Given the description of an element on the screen output the (x, y) to click on. 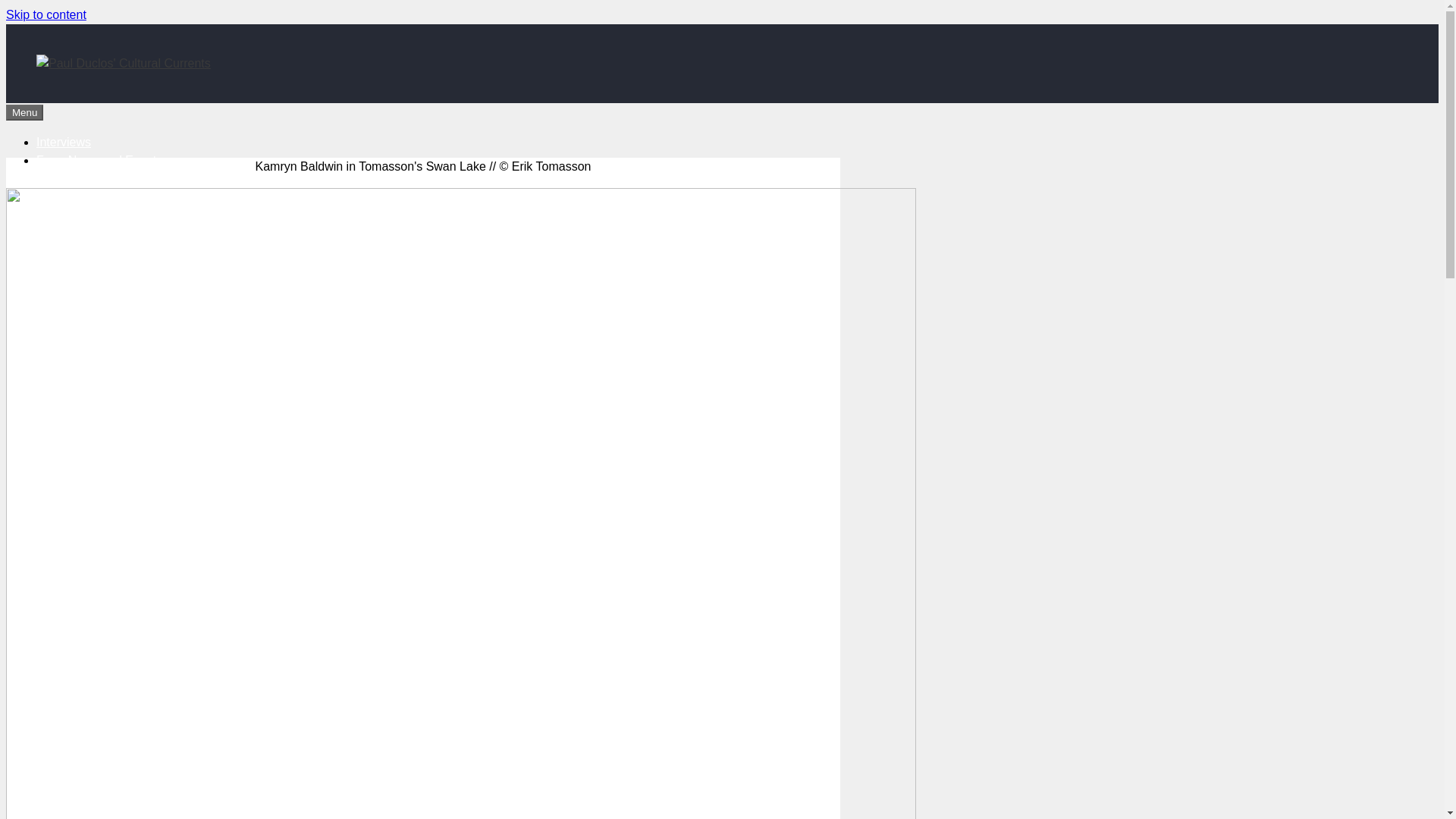
Interviews (63, 141)
Skip to content (45, 14)
Ferry News and Events (98, 160)
Menu (24, 112)
Paul Duclos' Cultural Currents (123, 62)
Paul Duclos' Cultural Currents (123, 63)
Skip to content (45, 14)
